Given the description of an element on the screen output the (x, y) to click on. 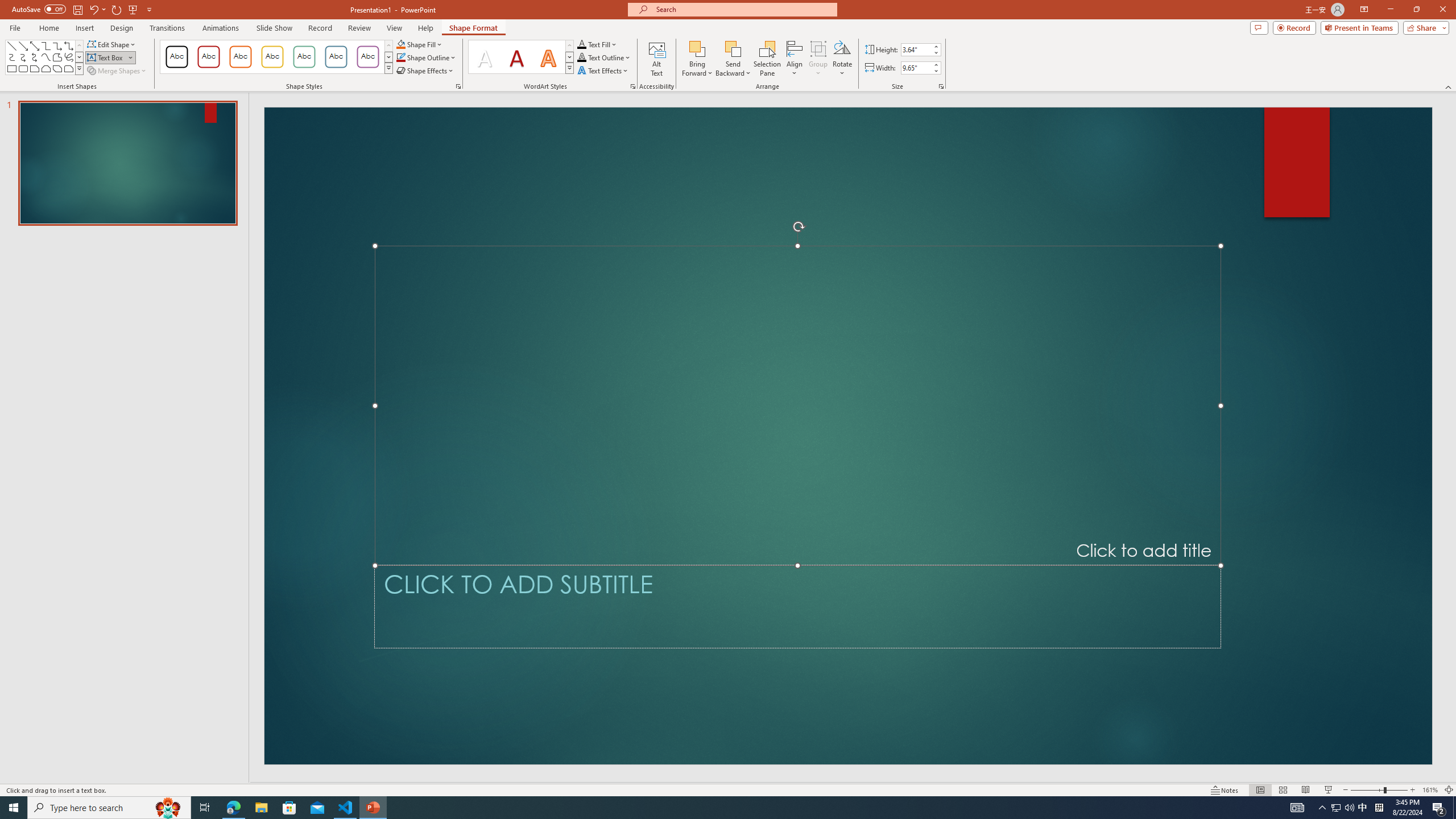
Line Arrow: Double (34, 45)
AutomationID: TextStylesGallery (521, 56)
Selection Pane... (767, 58)
Send Backward (733, 48)
Connector: Curved (11, 57)
